Given the description of an element on the screen output the (x, y) to click on. 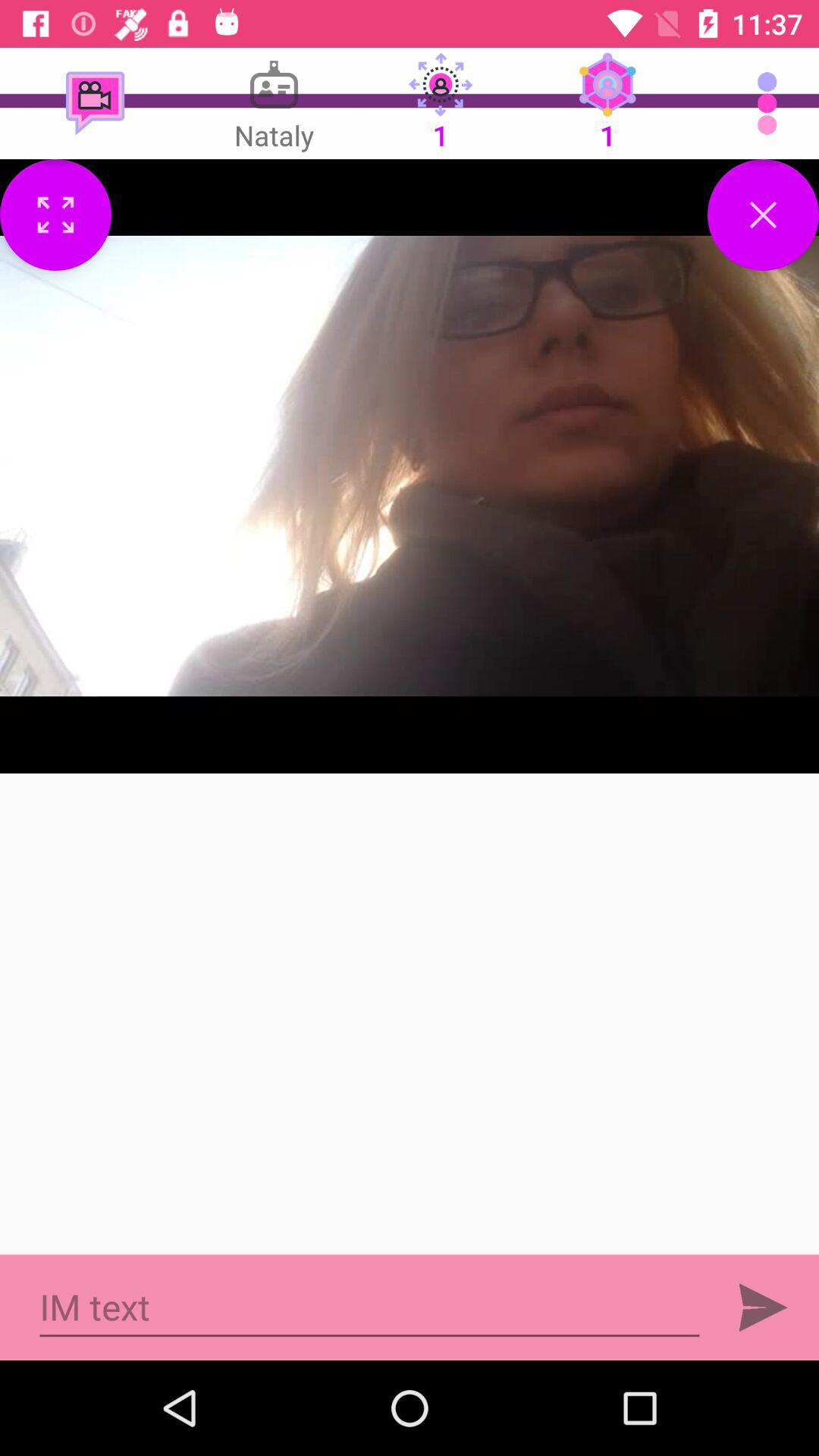
send message (763, 1307)
